Given the description of an element on the screen output the (x, y) to click on. 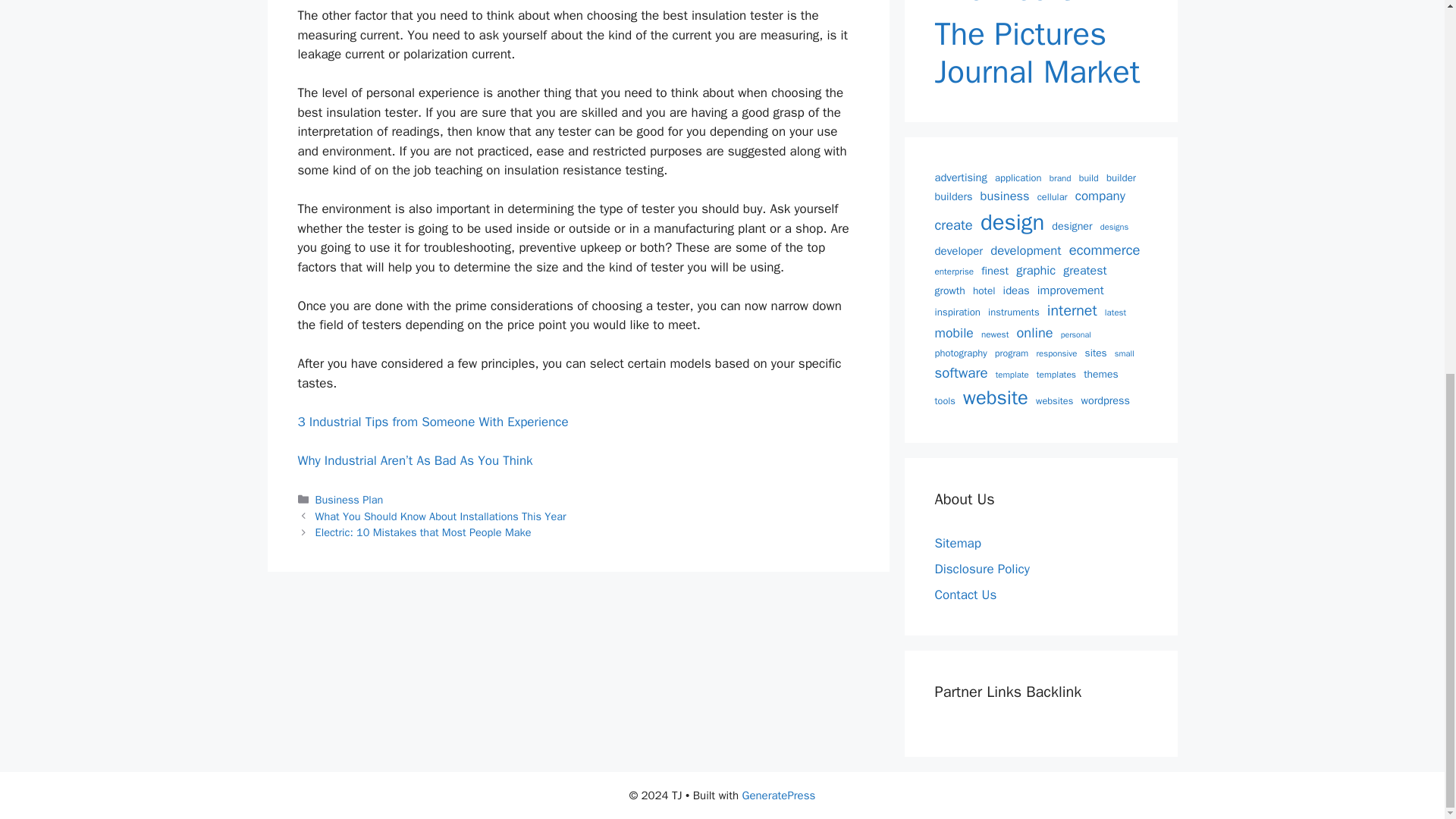
design (1011, 222)
What You Should Know About Installations This Year (440, 516)
enterprise (954, 272)
builders (953, 197)
Photography Comes From The Heart (1040, 4)
ecommerce (1104, 250)
cellular (1051, 197)
application (1018, 178)
build (1088, 178)
create (953, 224)
